Given the description of an element on the screen output the (x, y) to click on. 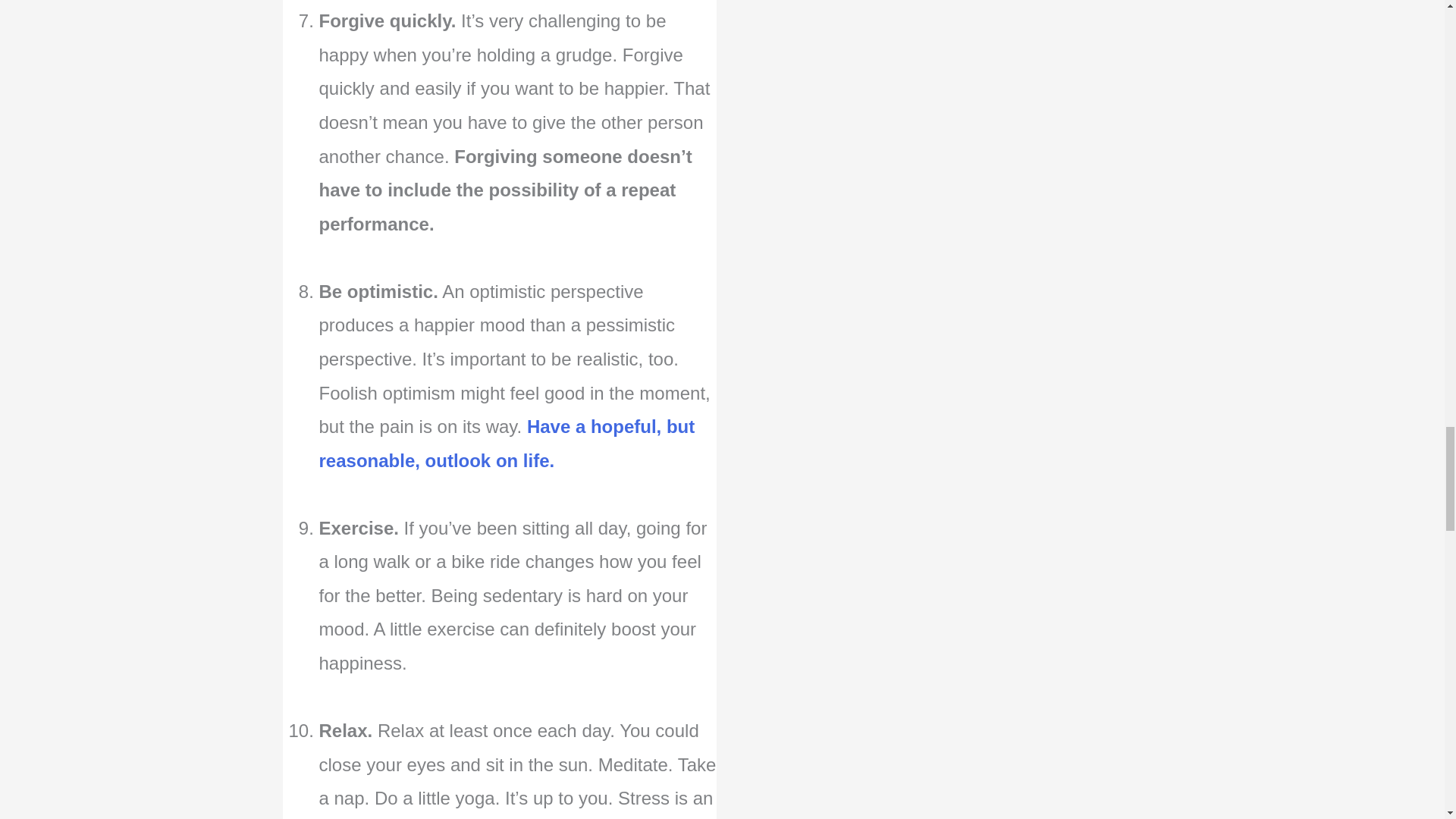
Have a hopeful, but reasonable, outlook on life. (506, 443)
